Given the description of an element on the screen output the (x, y) to click on. 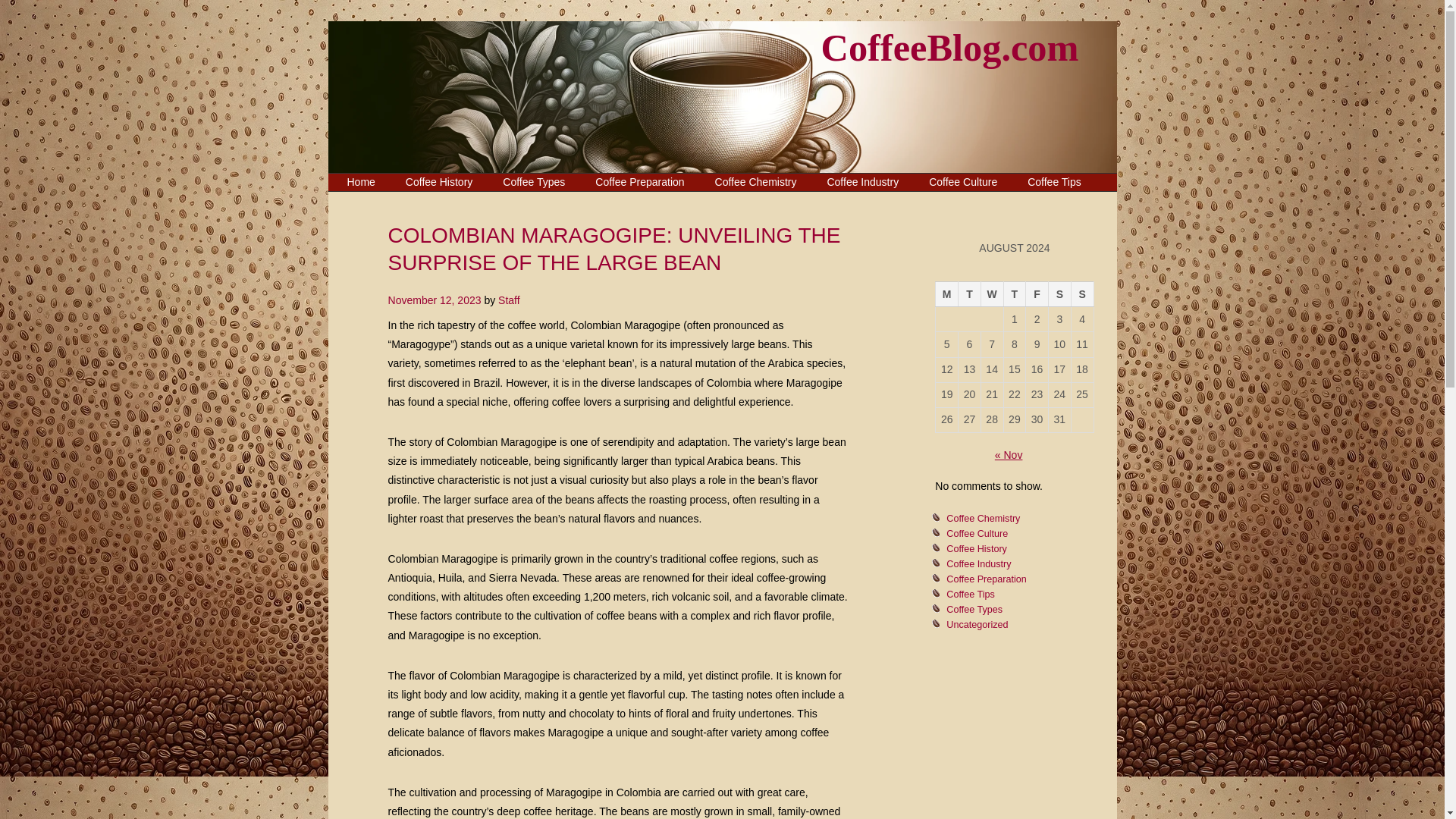
5:27 pm (434, 300)
Wednesday (991, 294)
Home (360, 181)
Coffee Culture (976, 533)
Coffee History (438, 181)
Coffee Industry (862, 181)
CoffeeBlog.com (949, 47)
Staff (508, 300)
Friday (1037, 294)
Coffee Chemistry (756, 181)
